Given the description of an element on the screen output the (x, y) to click on. 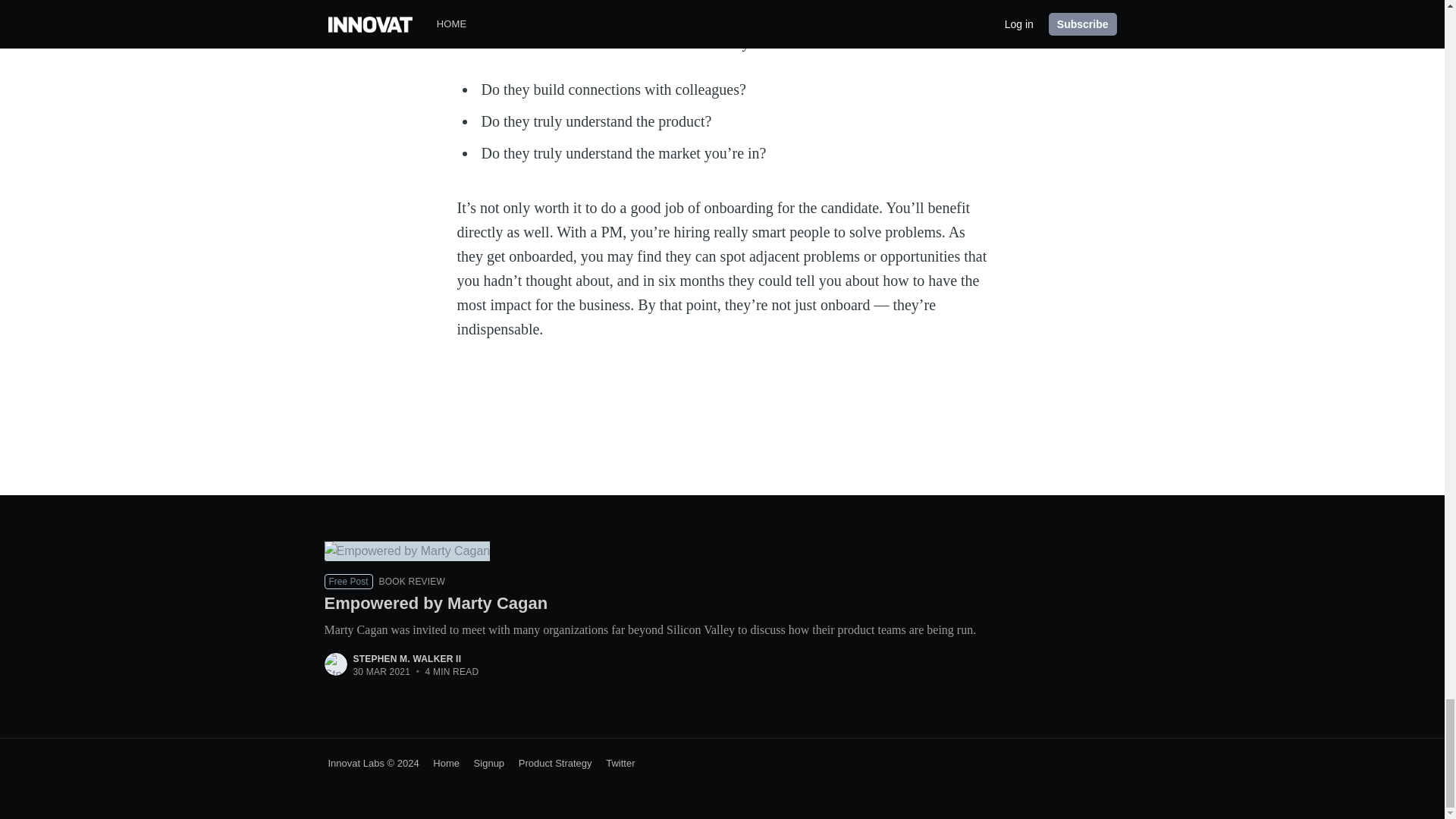
Signup (483, 763)
STEPHEN M. WALKER II (407, 658)
Twitter (614, 763)
Home (441, 763)
Product Strategy (549, 763)
Innovat Labs (355, 763)
